Given the description of an element on the screen output the (x, y) to click on. 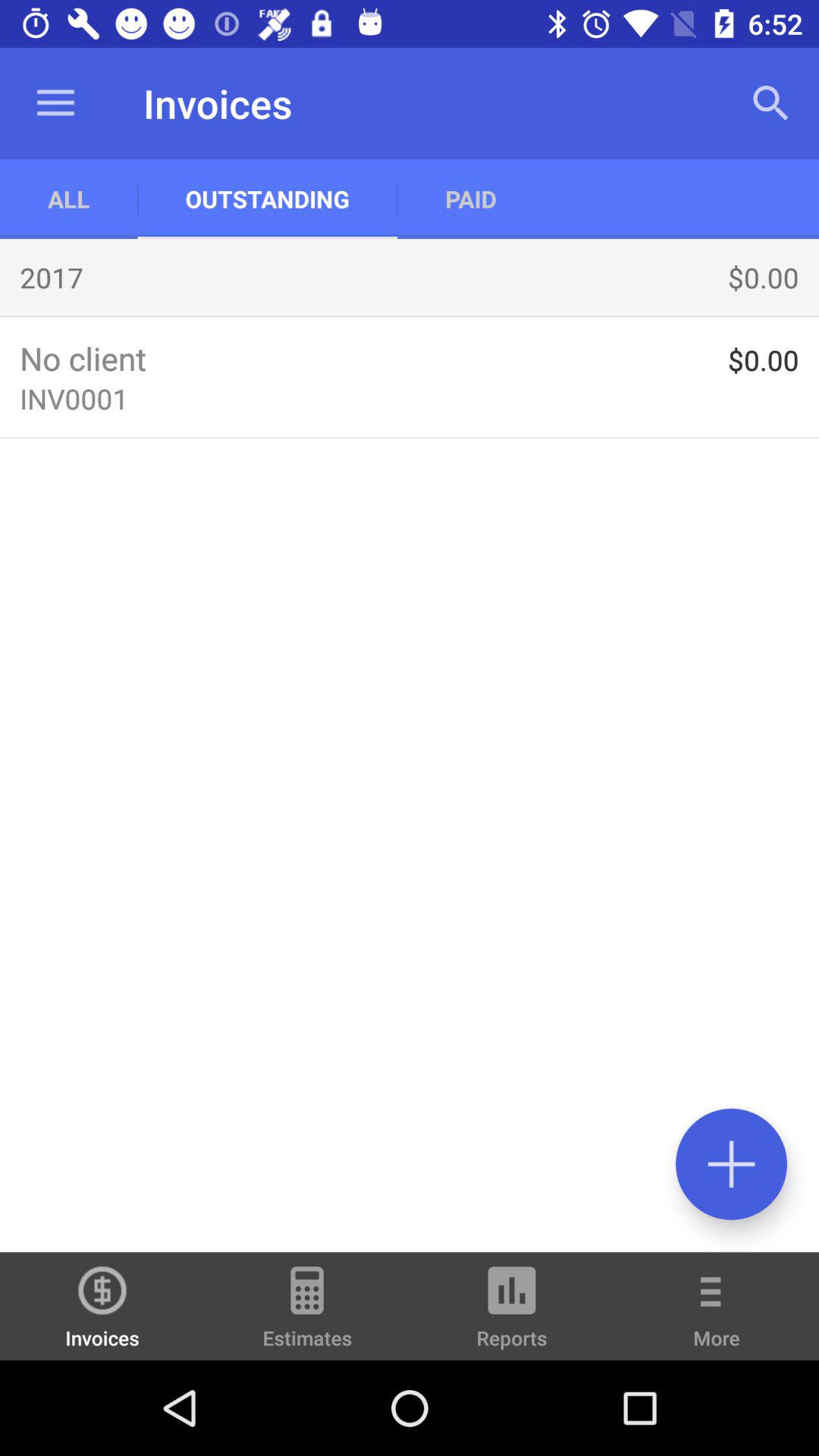
open the icon to the left of the outstanding item (68, 198)
